Given the description of an element on the screen output the (x, y) to click on. 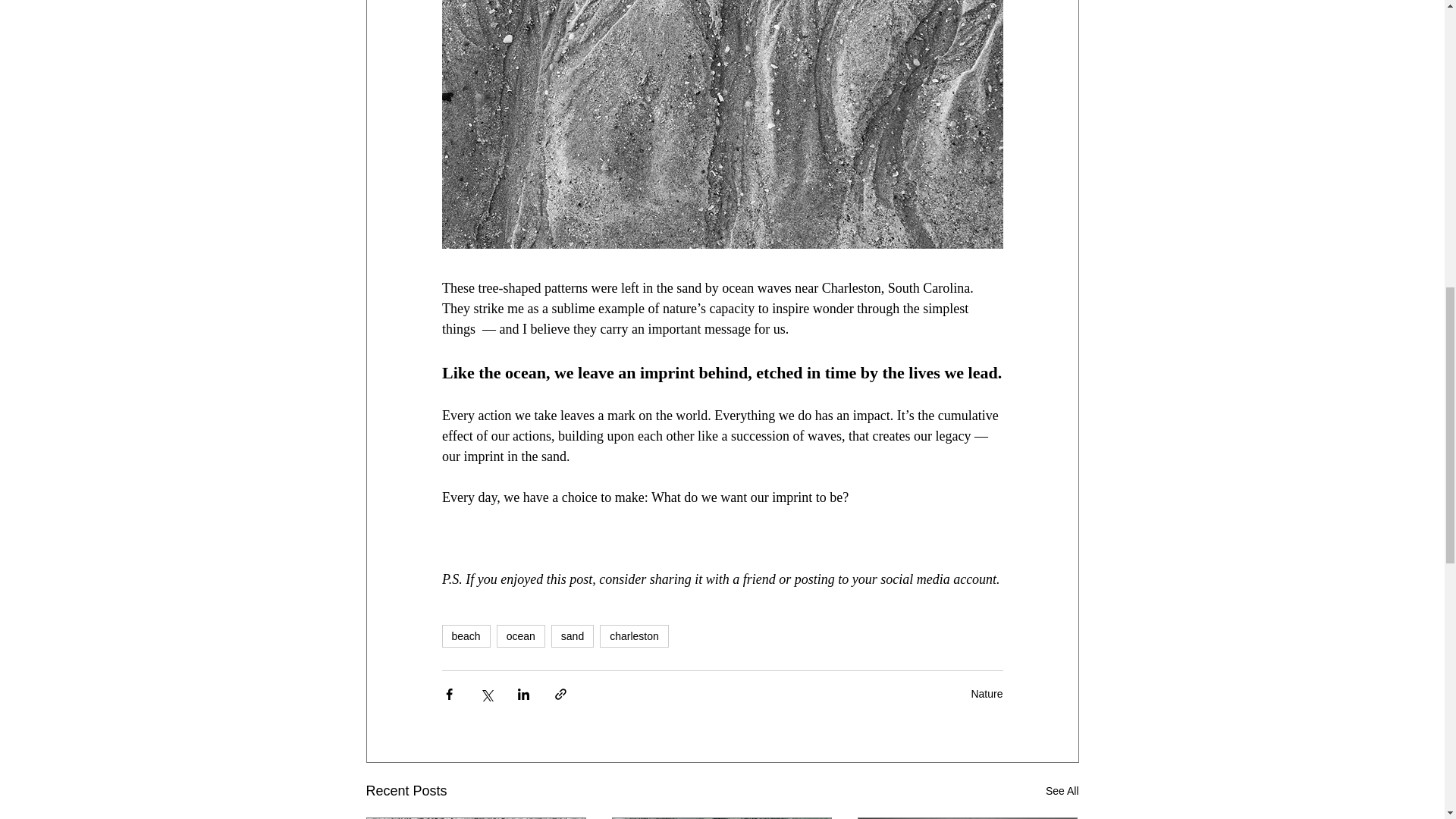
charleston (633, 635)
Nature (987, 693)
sand (572, 635)
ocean (520, 635)
See All (1061, 791)
beach (465, 635)
